Given the description of an element on the screen output the (x, y) to click on. 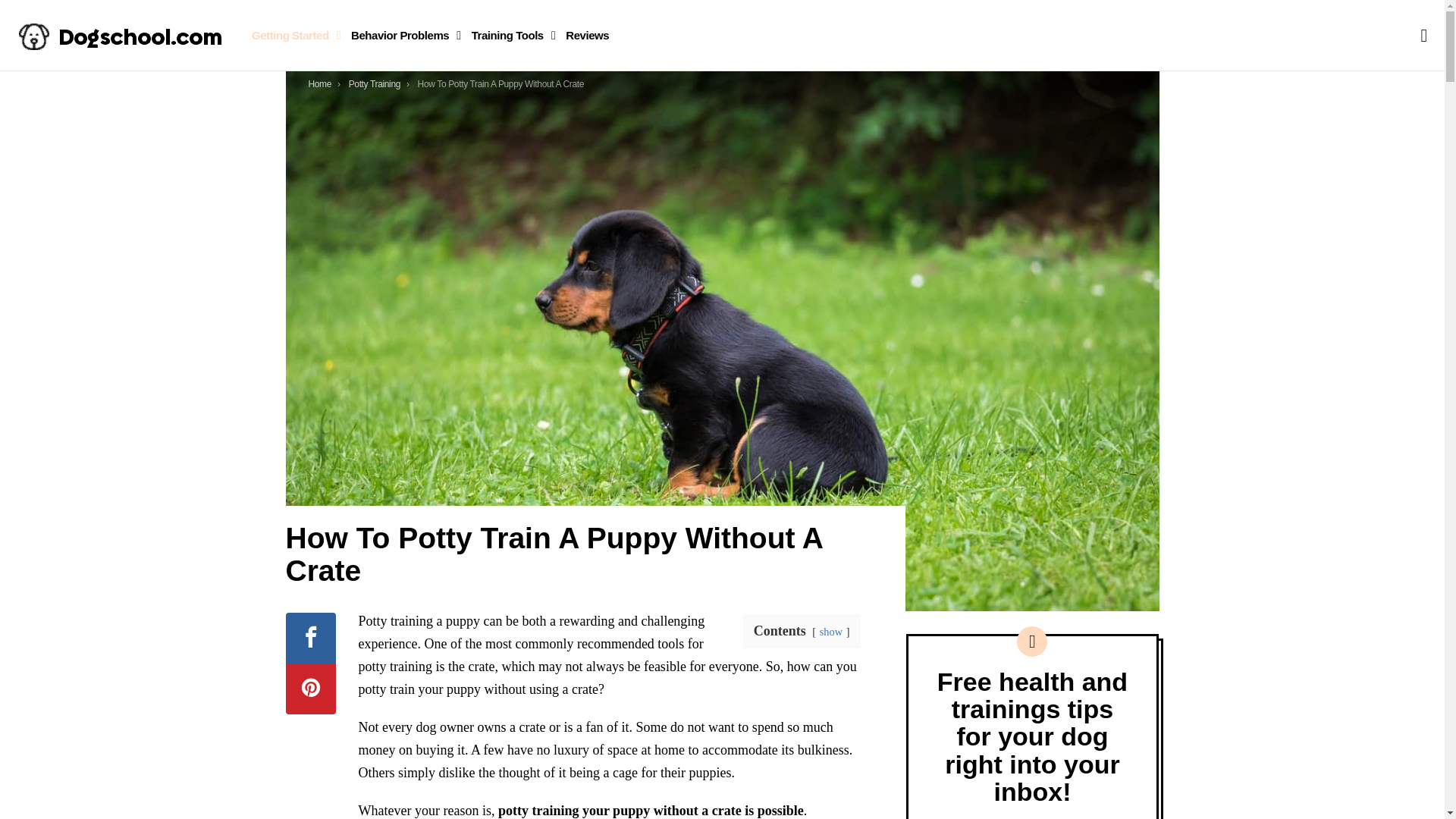
show (831, 631)
Potty Training (374, 83)
Home (319, 83)
Reviews (586, 35)
Training Tools (510, 35)
Behavior Problems (402, 35)
Getting Started (292, 35)
